Given the description of an element on the screen output the (x, y) to click on. 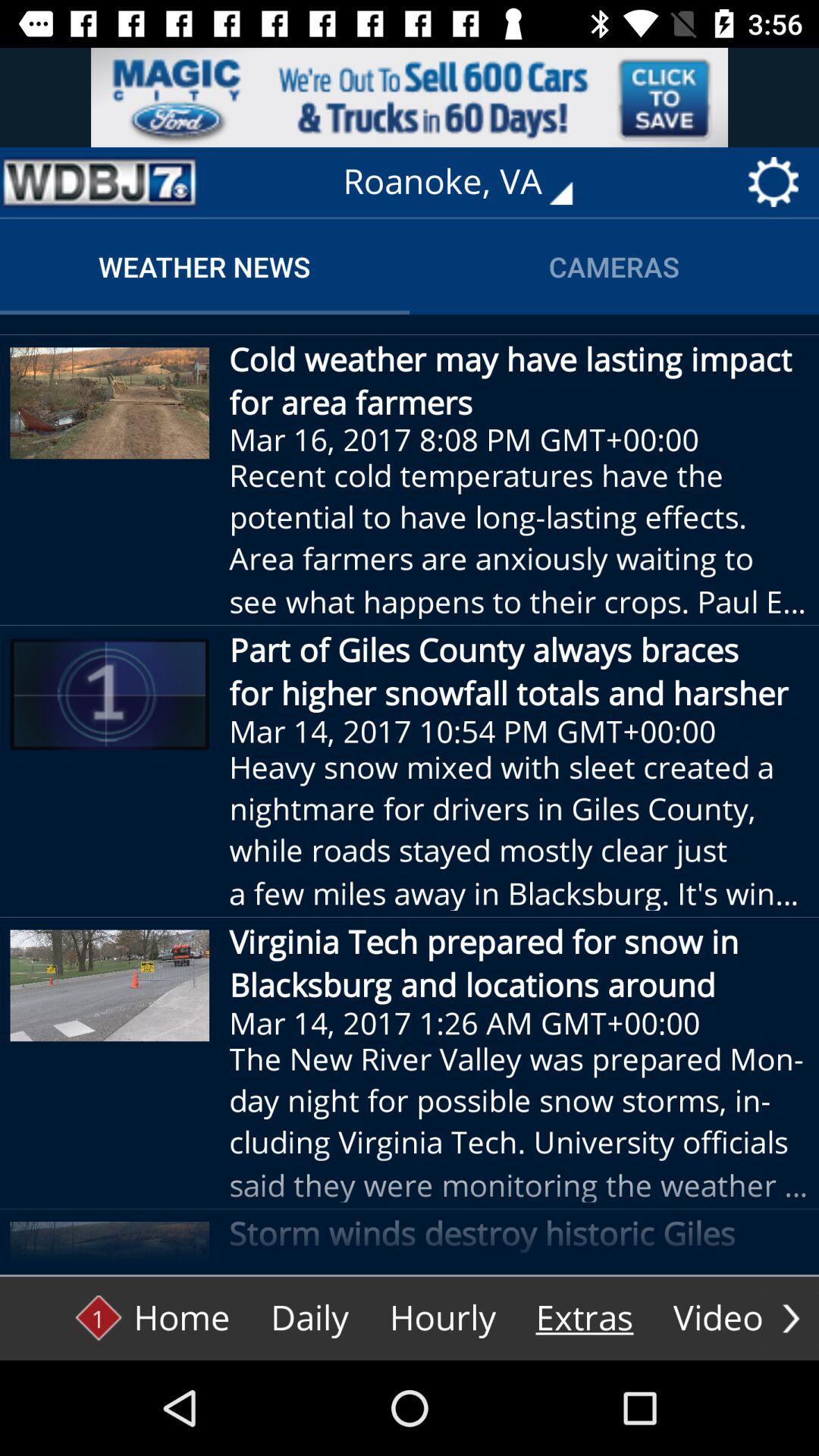
see other menu options (791, 1318)
